Given the description of an element on the screen output the (x, y) to click on. 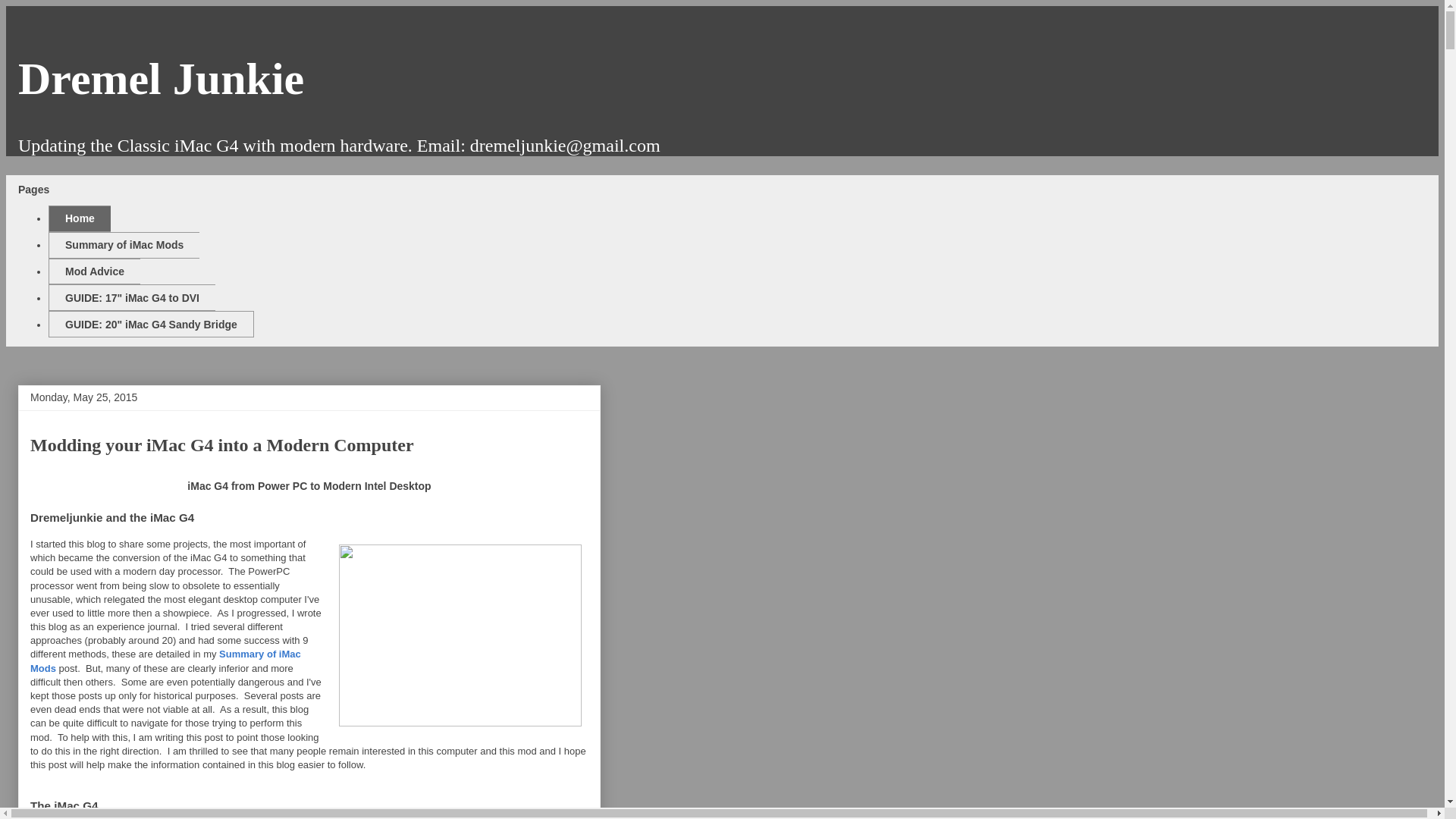
Summary of iMac Mods (165, 660)
Modding your iMac G4 into a Modern Computer (221, 444)
Mod Advice (93, 271)
GUIDE: 17" iMac G4 to DVI (131, 297)
GUIDE: 20" iMac G4 Sandy Bridge (150, 324)
Home (79, 218)
Summary of iMac Mods (123, 244)
